Given the description of an element on the screen output the (x, y) to click on. 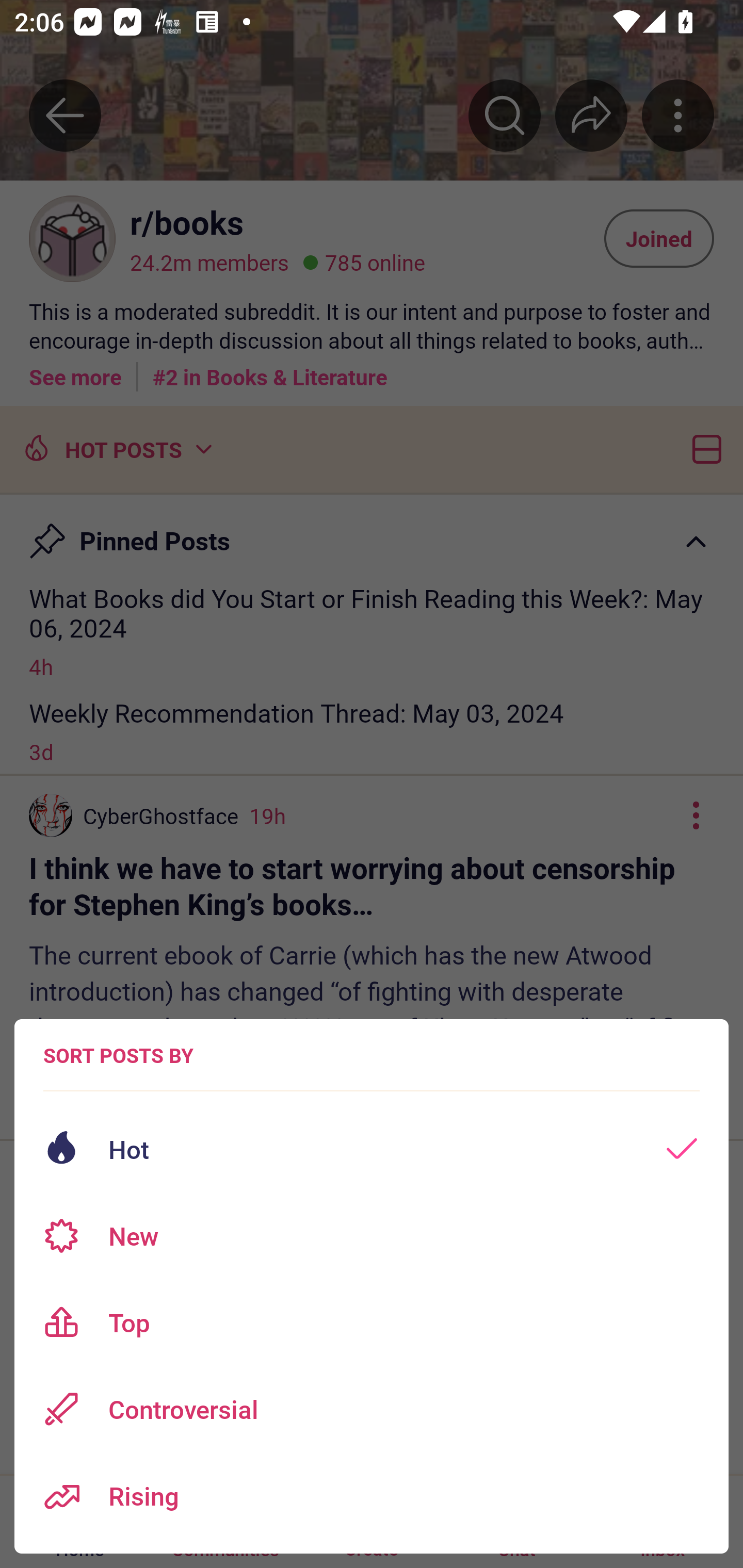
SORT POSTS BY Sort posts options (118, 1055)
Hot (371, 1149)
New (371, 1236)
Top (371, 1322)
Controversial (371, 1408)
Rising (371, 1495)
